Given the description of an element on the screen output the (x, y) to click on. 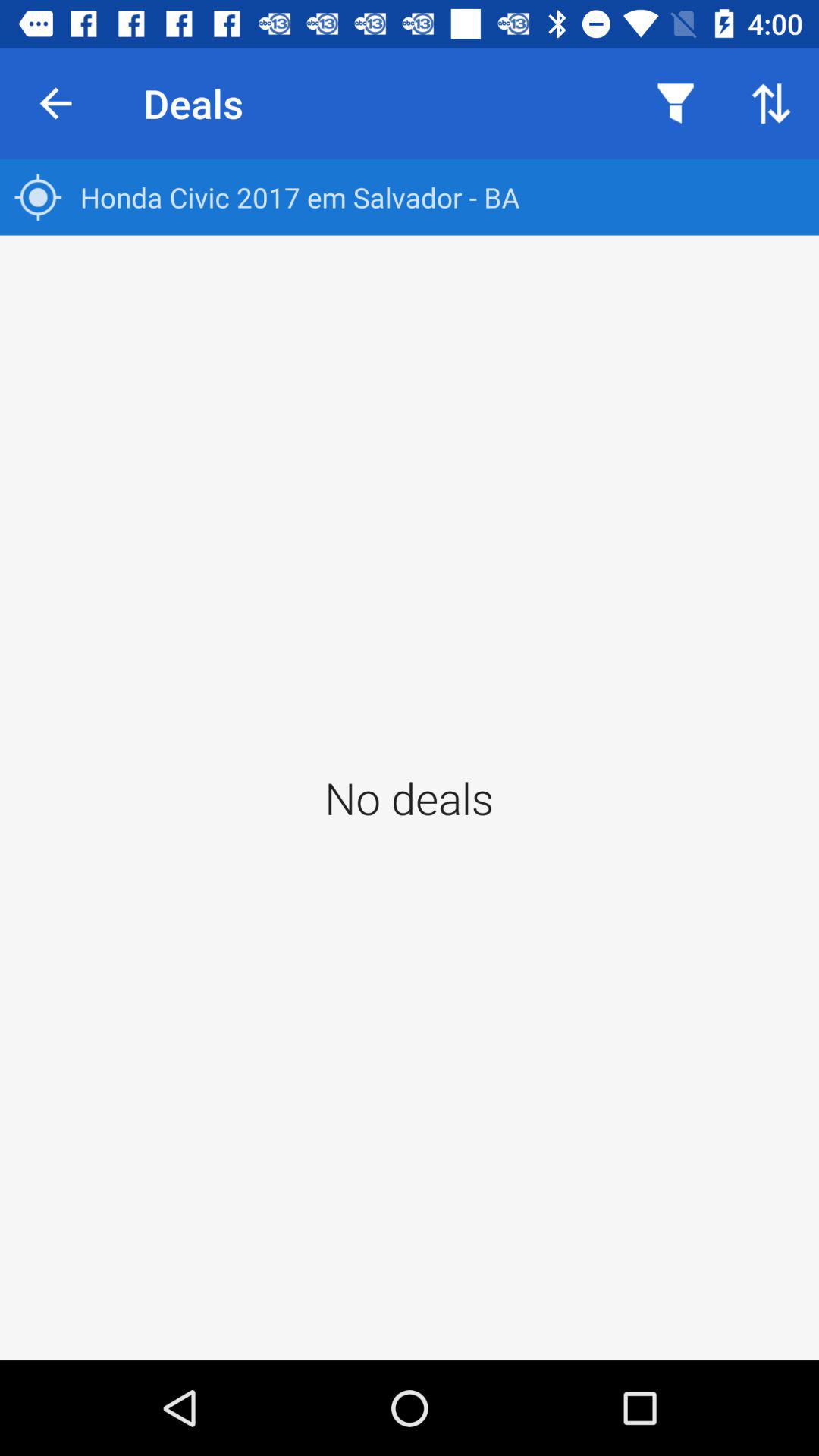
open item to the left of the deals (55, 103)
